Given the description of an element on the screen output the (x, y) to click on. 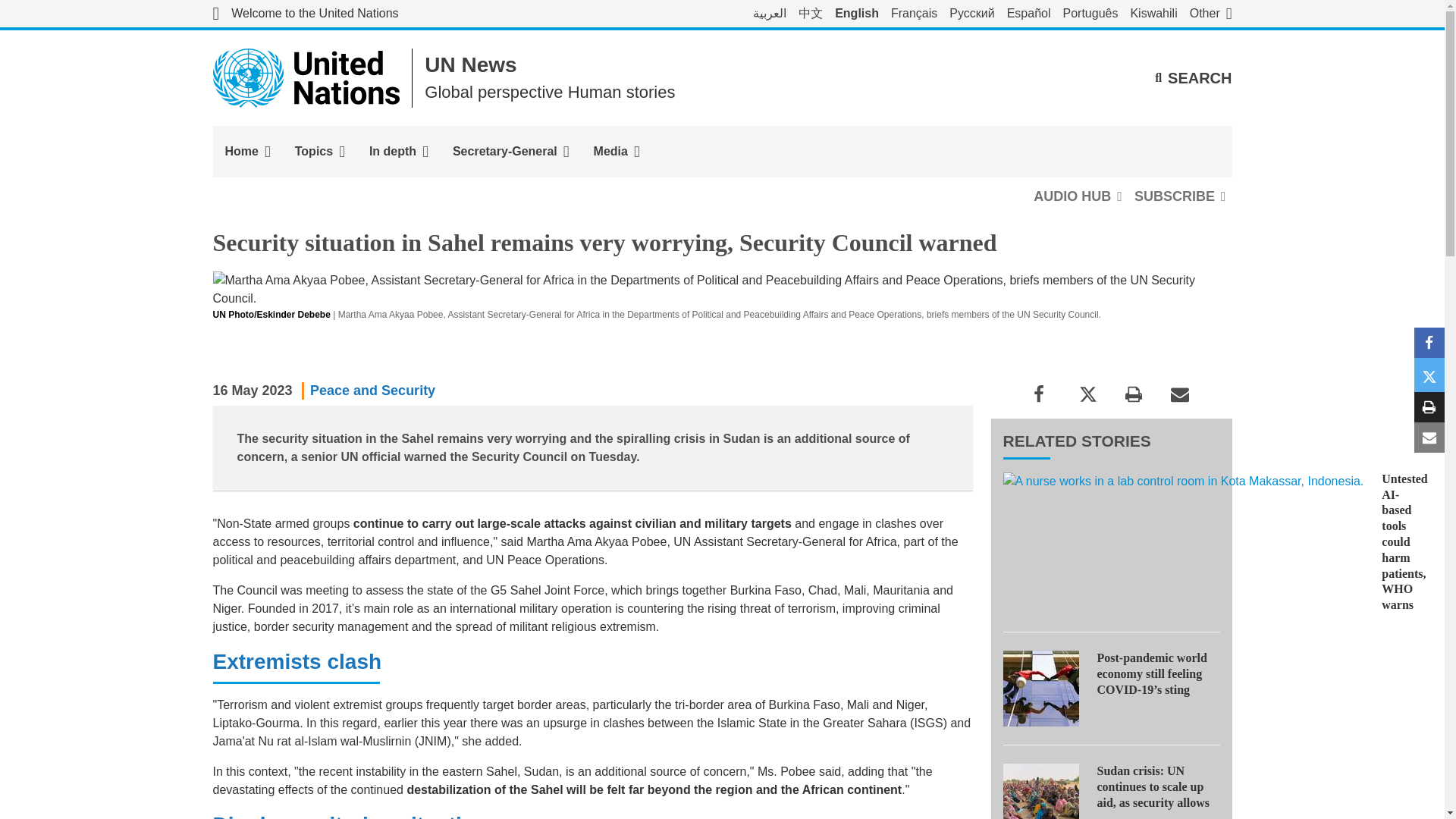
Welcome to the United Nations (304, 13)
Topics (319, 151)
English (856, 13)
Home (247, 151)
United Nations (304, 13)
Home (247, 151)
SEARCH (1192, 77)
UN News (470, 64)
UN News (470, 64)
United Nations (305, 76)
Kiswahili (1152, 13)
Other (1210, 13)
